Given the description of an element on the screen output the (x, y) to click on. 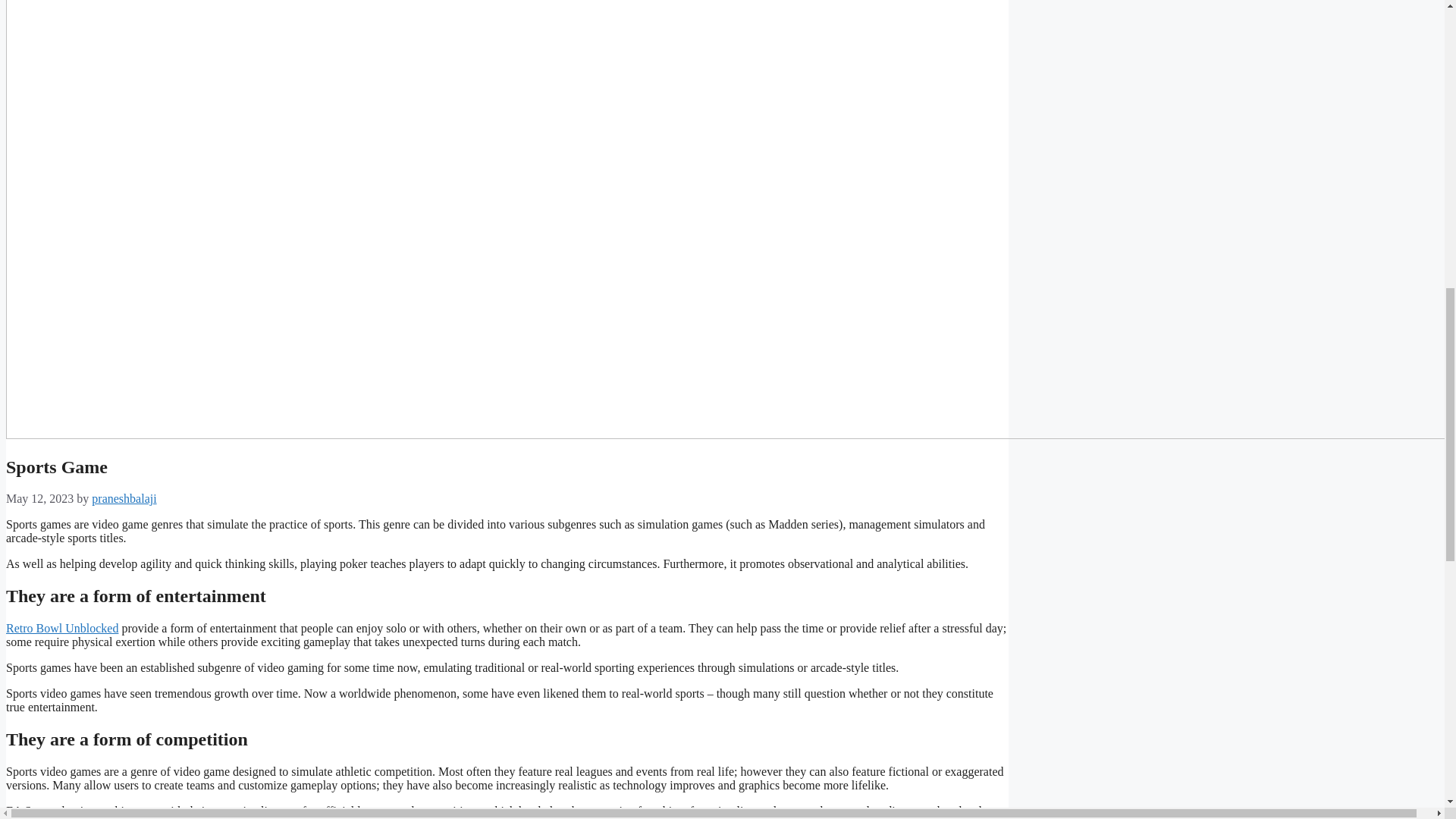
Retro Bowl Unblocked (61, 627)
View all posts by praneshbalaji (123, 498)
praneshbalaji (123, 498)
